Given the description of an element on the screen output the (x, y) to click on. 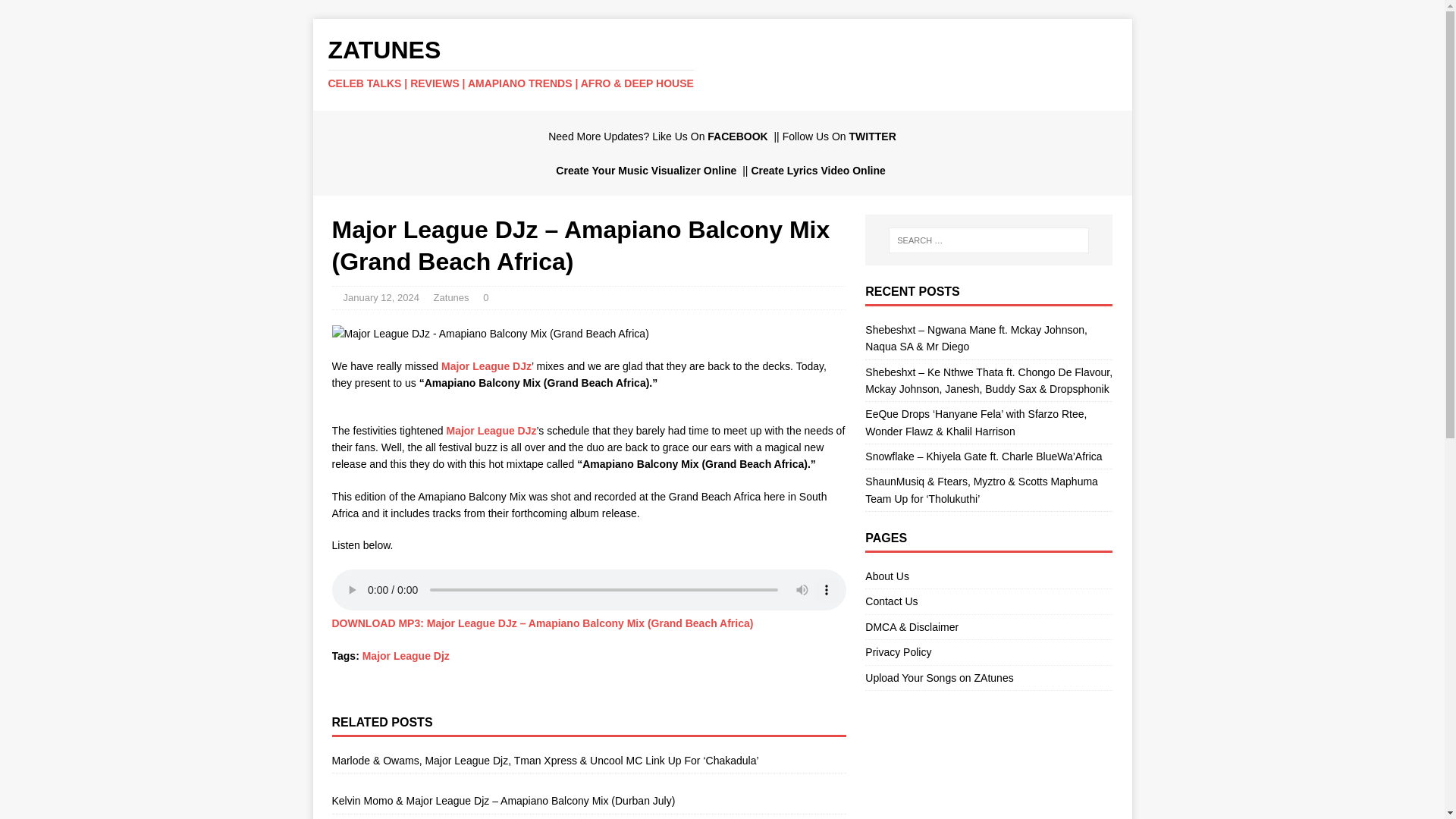
Major League DJz (486, 366)
Contact Us (988, 601)
About Us (988, 578)
ZAtunes (721, 63)
Major League DJz (490, 430)
Upload Your Songs on ZAtunes (988, 678)
Major League DJz (490, 430)
Search (56, 11)
Major League DJz (486, 366)
Like Us On FACEBOOK  (711, 136)
